Given the description of an element on the screen output the (x, y) to click on. 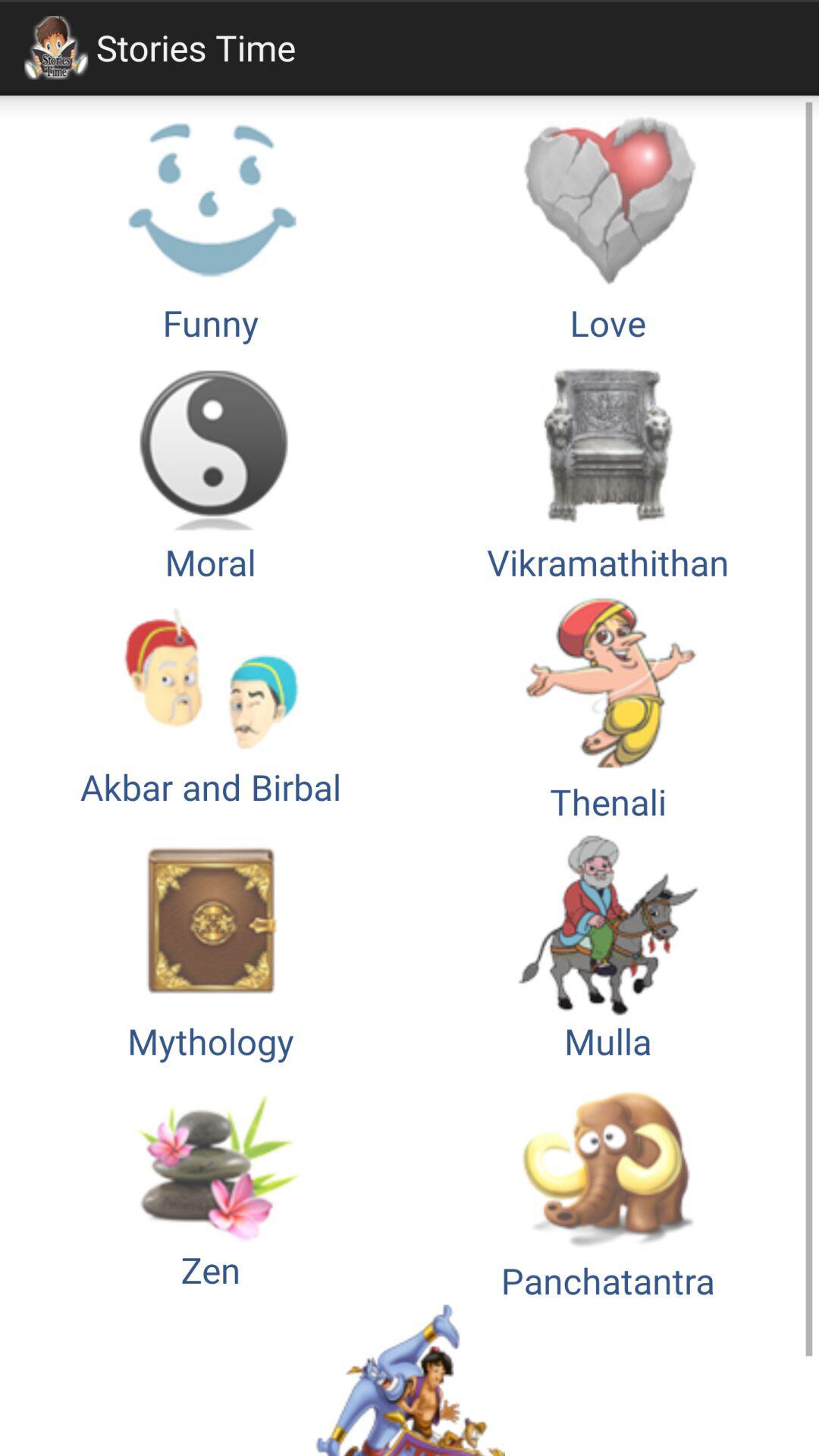
turn off item to the left of the mulla icon (210, 1184)
